Given the description of an element on the screen output the (x, y) to click on. 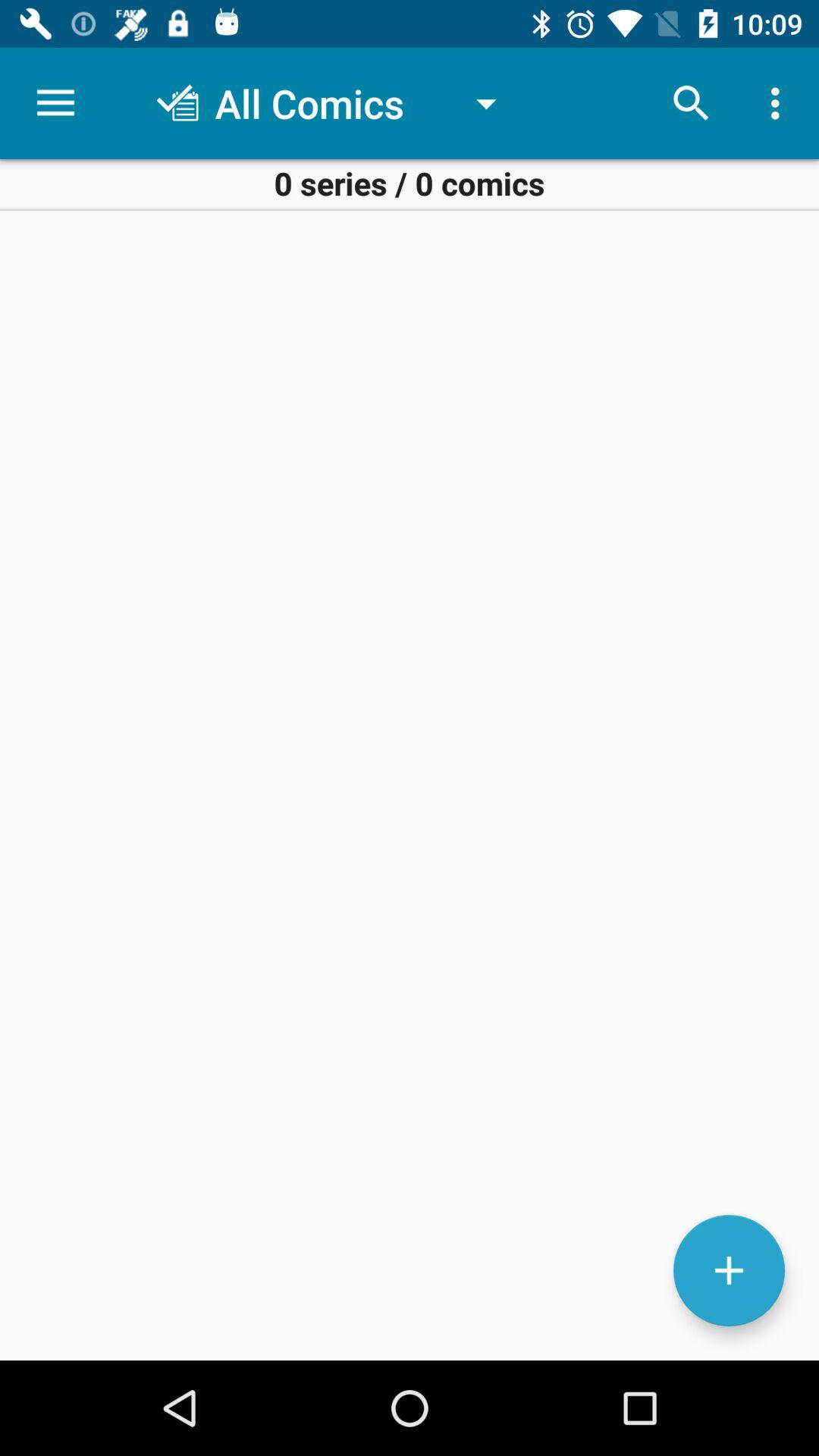
add item (728, 1270)
